Given the description of an element on the screen output the (x, y) to click on. 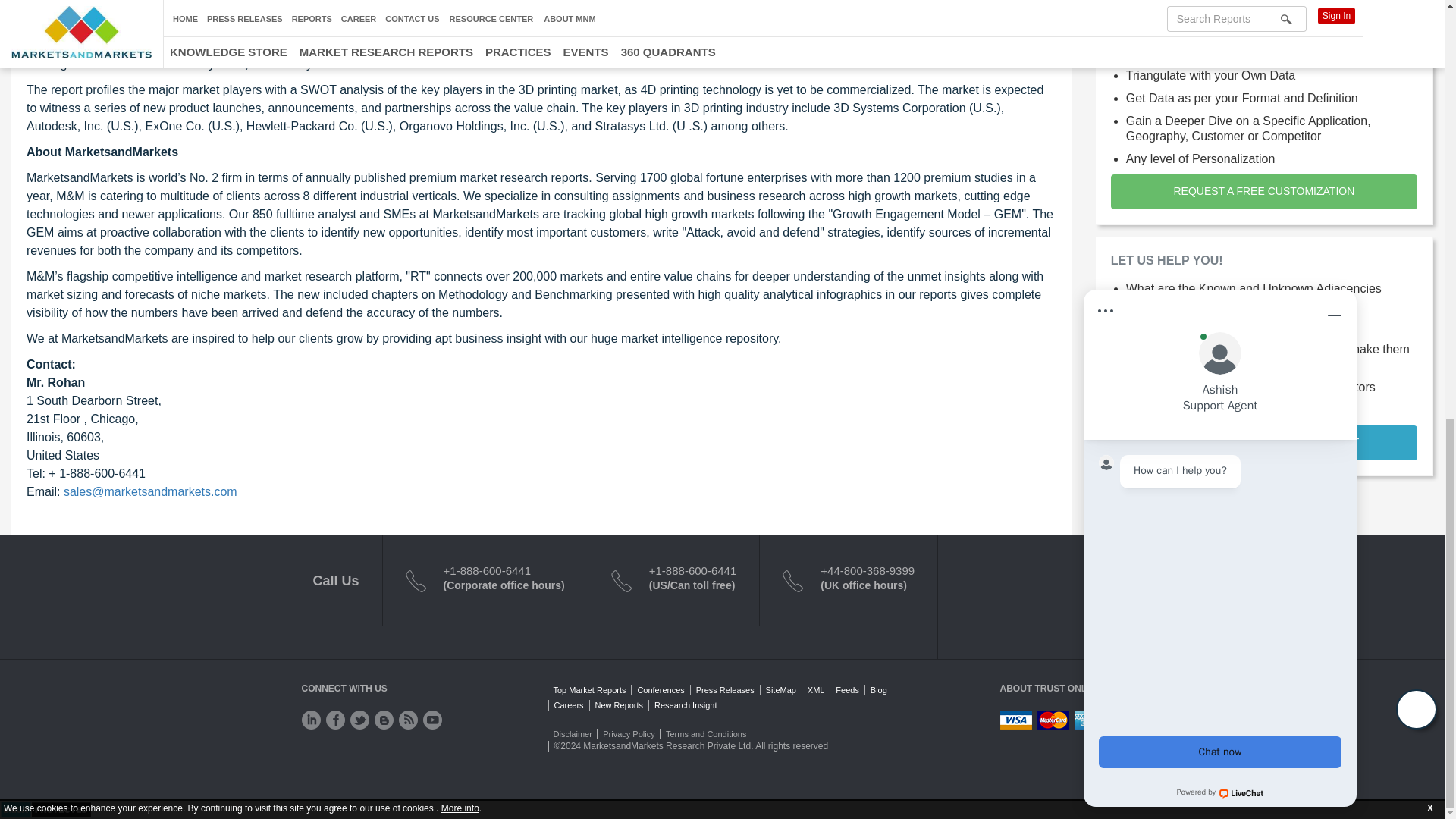
CUSTOMIZED WORKSHOP REQUEST (1263, 442)
REQUEST A FREE CUSTOMIZATION (1263, 6)
